Given the description of an element on the screen output the (x, y) to click on. 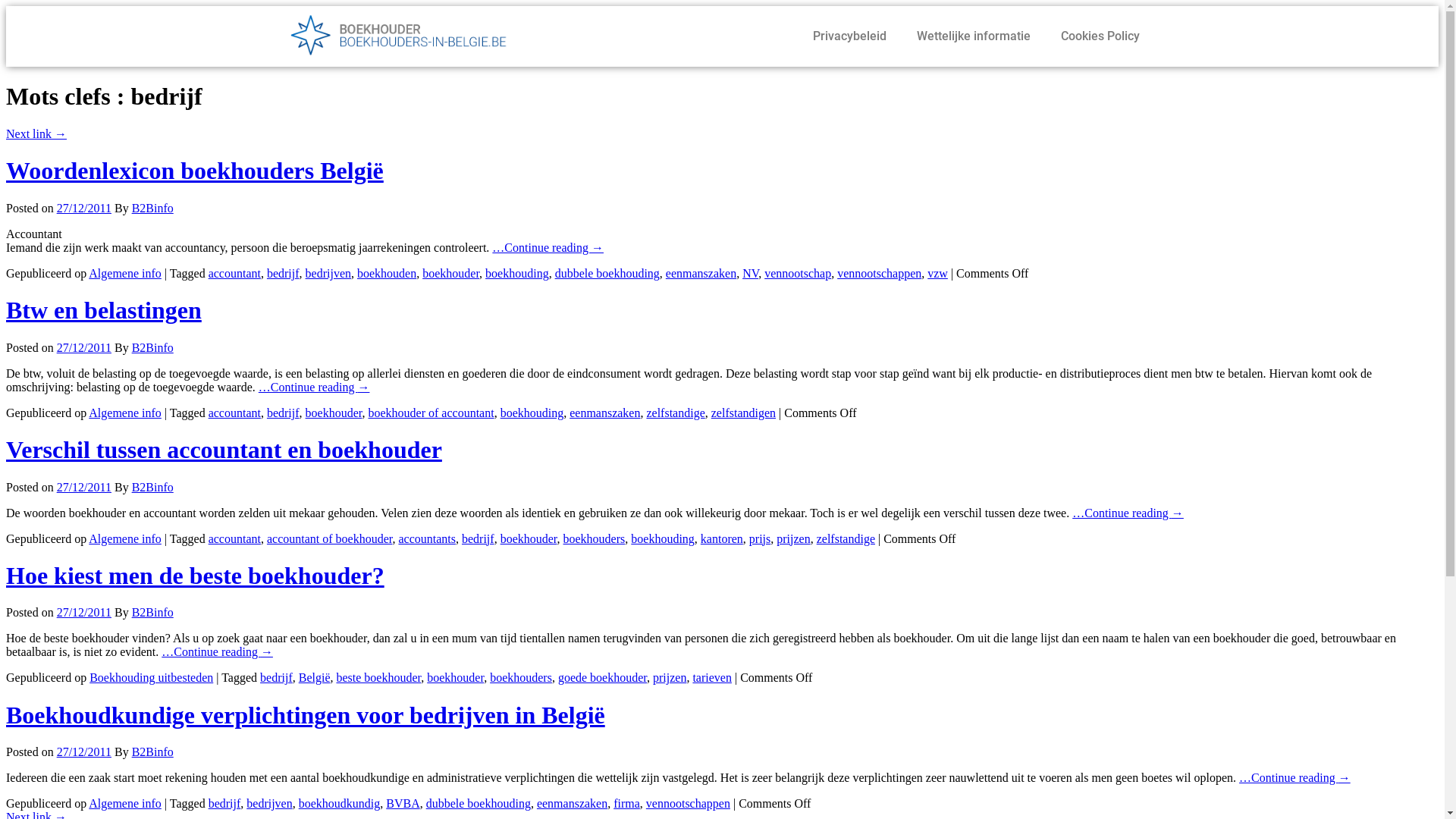
bedrijven Element type: text (268, 803)
zelfstandige Element type: text (845, 538)
vennootschap Element type: text (797, 272)
Hoe kiest men de beste boekhouder? Element type: text (195, 575)
accountants Element type: text (426, 538)
27/12/2011 Element type: text (83, 751)
boekhouders Element type: text (594, 538)
prijs Element type: text (759, 538)
bedrijf Element type: text (276, 677)
accountant of boekhouder Element type: text (329, 538)
27/12/2011 Element type: text (83, 486)
boekhouder Element type: text (333, 412)
dubbele boekhouding Element type: text (607, 272)
Algemene info Element type: text (124, 803)
eenmanszaken Element type: text (700, 272)
kantoren Element type: text (721, 538)
bedrijf Element type: text (224, 803)
eenmanszaken Element type: text (571, 803)
prijzen Element type: text (669, 677)
Algemene info Element type: text (124, 538)
goede boekhouder Element type: text (602, 677)
27/12/2011 Element type: text (83, 347)
boekhouding Element type: text (517, 272)
vennootschappen Element type: text (688, 803)
Btw en belastingen Element type: text (103, 309)
boekhouder of accountant Element type: text (430, 412)
Wettelijke informatie Element type: text (972, 35)
Boekhouder Element type: hover (419, 36)
bedrijf Element type: text (282, 412)
Algemene info Element type: text (124, 272)
prijzen Element type: text (792, 538)
accountant Element type: text (234, 272)
tarieven Element type: text (711, 677)
accountant Element type: text (234, 538)
vennootschappen Element type: text (879, 272)
boekhouders Element type: text (520, 677)
B2Binfo Element type: text (152, 207)
Privacybeleid Element type: text (849, 35)
bedrijf Element type: text (282, 272)
boekhouding Element type: text (532, 412)
NV Element type: text (750, 272)
boekhouding Element type: text (662, 538)
B2Binfo Element type: text (152, 486)
zelfstandigen Element type: text (743, 412)
Boekhouding uitbesteden Element type: text (151, 677)
accountant Element type: text (234, 412)
Cookies Policy Element type: text (1099, 35)
zelfstandige Element type: text (675, 412)
boekhouden Element type: text (386, 272)
dubbele boekhouding Element type: text (478, 803)
vzw Element type: text (937, 272)
27/12/2011 Element type: text (83, 207)
bedrijf Element type: text (477, 538)
B2Binfo Element type: text (152, 611)
Verschil tussen accountant en boekhouder Element type: text (224, 449)
boekhouder Element type: text (528, 538)
boekhouder Element type: text (450, 272)
boekhoudkundig Element type: text (339, 803)
beste boekhouder Element type: text (377, 677)
Algemene info Element type: text (124, 412)
B2Binfo Element type: text (152, 751)
firma Element type: text (626, 803)
BVBA Element type: text (402, 803)
boekhouder Element type: text (454, 677)
eenmanszaken Element type: text (604, 412)
27/12/2011 Element type: text (83, 611)
bedrijven Element type: text (328, 272)
B2Binfo Element type: text (152, 347)
